Given the description of an element on the screen output the (x, y) to click on. 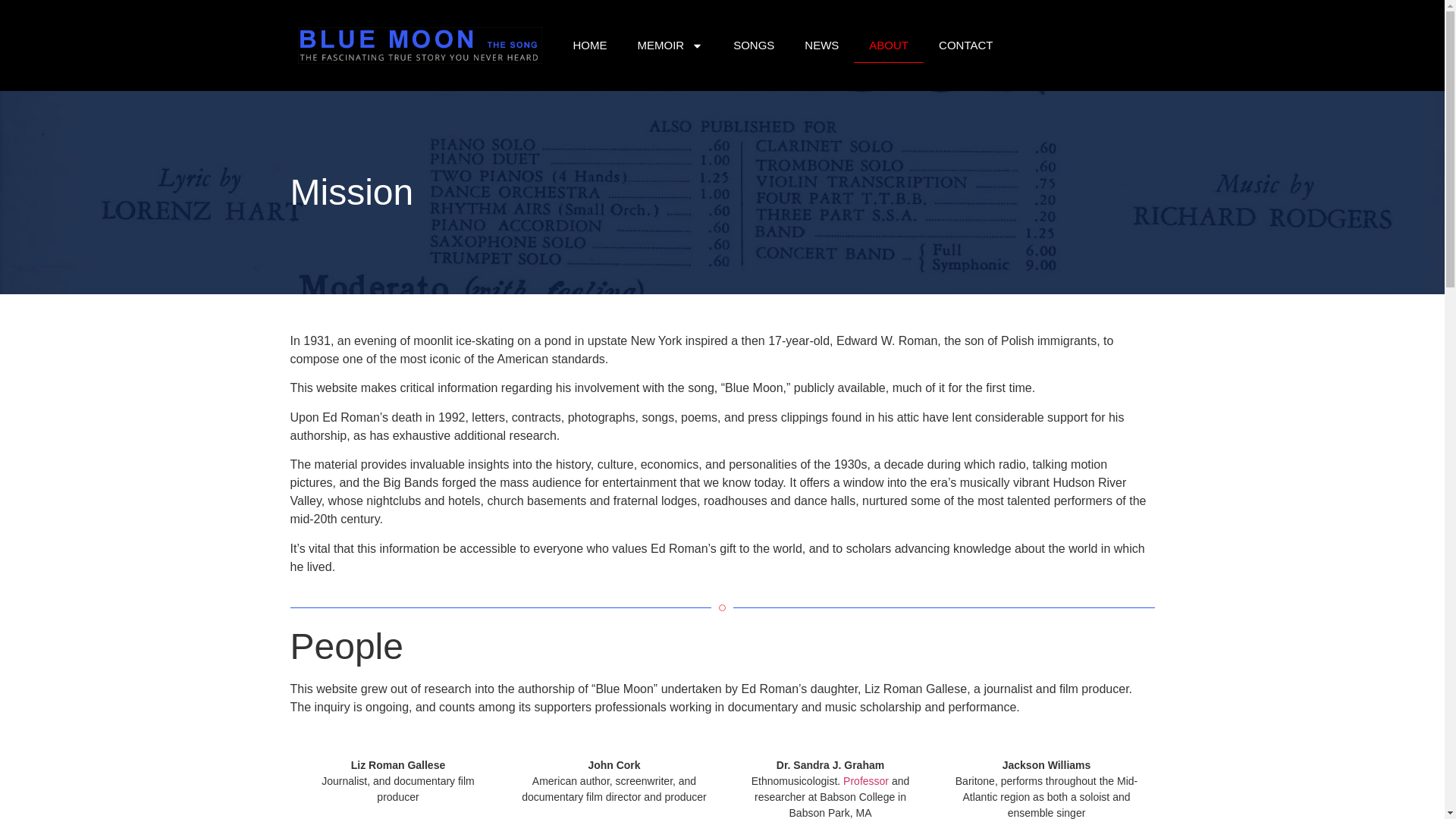
HOME (590, 45)
ABOUT (888, 45)
MEMOIR (669, 45)
Professor (865, 780)
CONTACT (965, 45)
SONGS (753, 45)
NEWS (821, 45)
